Given the description of an element on the screen output the (x, y) to click on. 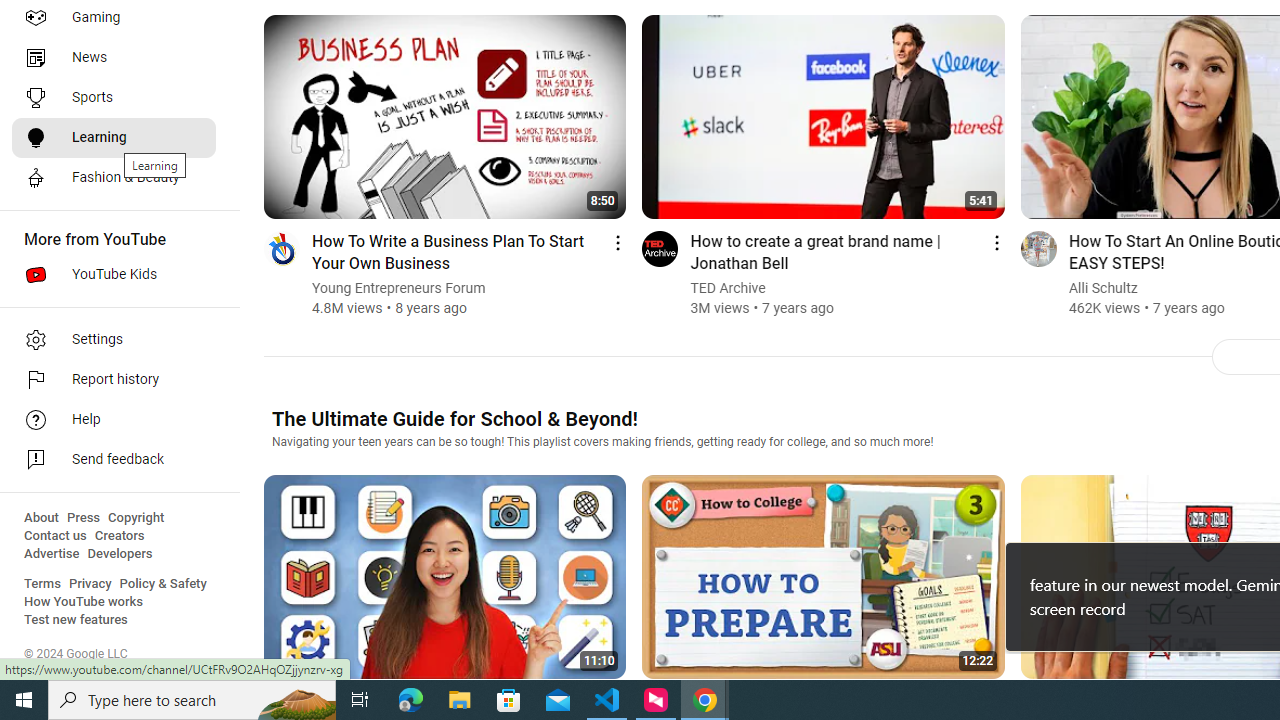
Policy & Safety (163, 584)
Alli Schultz (1103, 287)
Privacy (89, 584)
Sports (113, 97)
The Ultimate Guide for School & Beyond! (454, 417)
How YouTube works (83, 602)
Help (113, 419)
Terms (42, 584)
Action menu (996, 241)
Advertise (51, 554)
Go to channel (1038, 248)
Copyright (136, 518)
Learning (113, 137)
News (113, 57)
Test new features (76, 620)
